Given the description of an element on the screen output the (x, y) to click on. 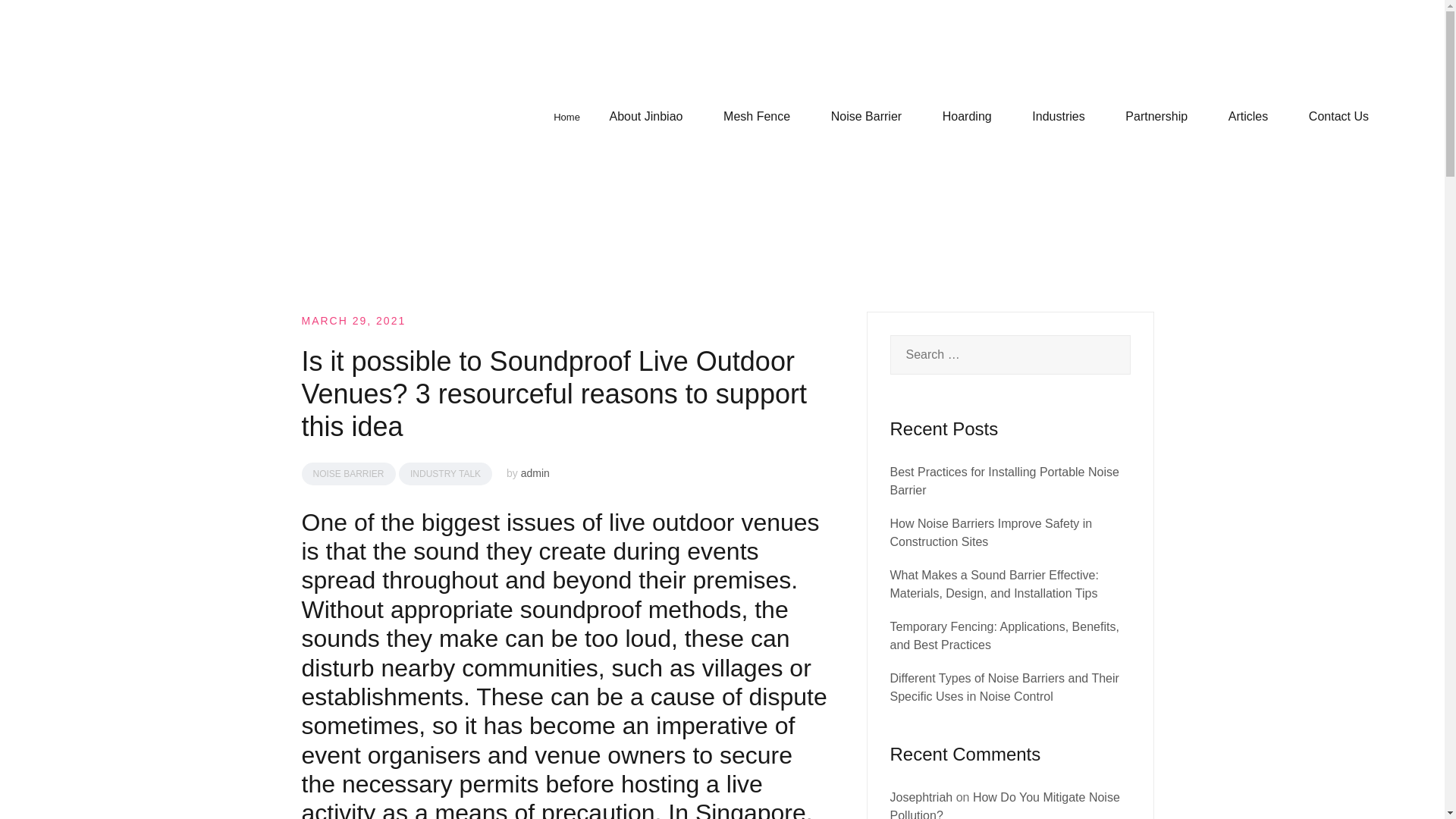
Mesh Fence (756, 116)
Home (566, 117)
Noise Barrier (866, 116)
Hoarding (966, 116)
Industries (1058, 116)
About Jinbiao (646, 116)
